Given the description of an element on the screen output the (x, y) to click on. 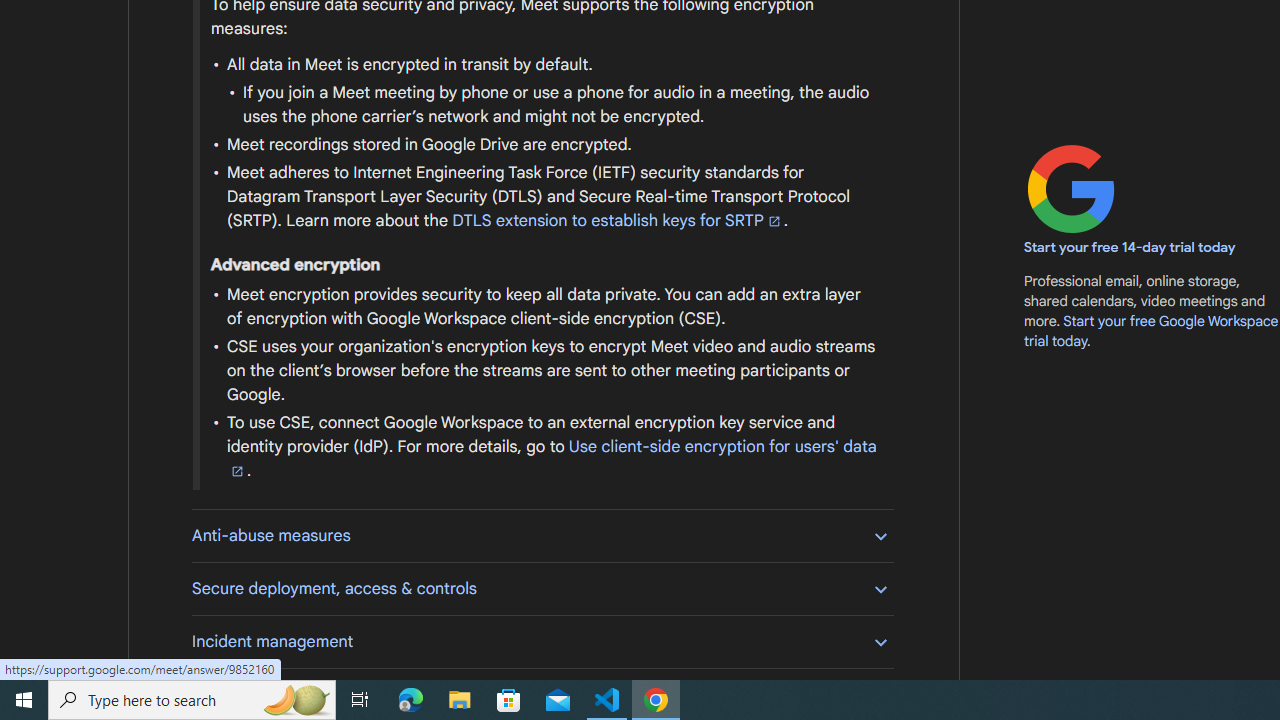
Use client-side encryption for users' data (551, 458)
Start your free Google Workspace trial today (1151, 330)
DTLS extension to establish keys for SRTP (617, 220)
Secure deployment, access & controls (542, 588)
Incident management (542, 641)
Start your free 14-day trial today (1130, 247)
Anti-abuse measures (542, 535)
